Given the description of an element on the screen output the (x, y) to click on. 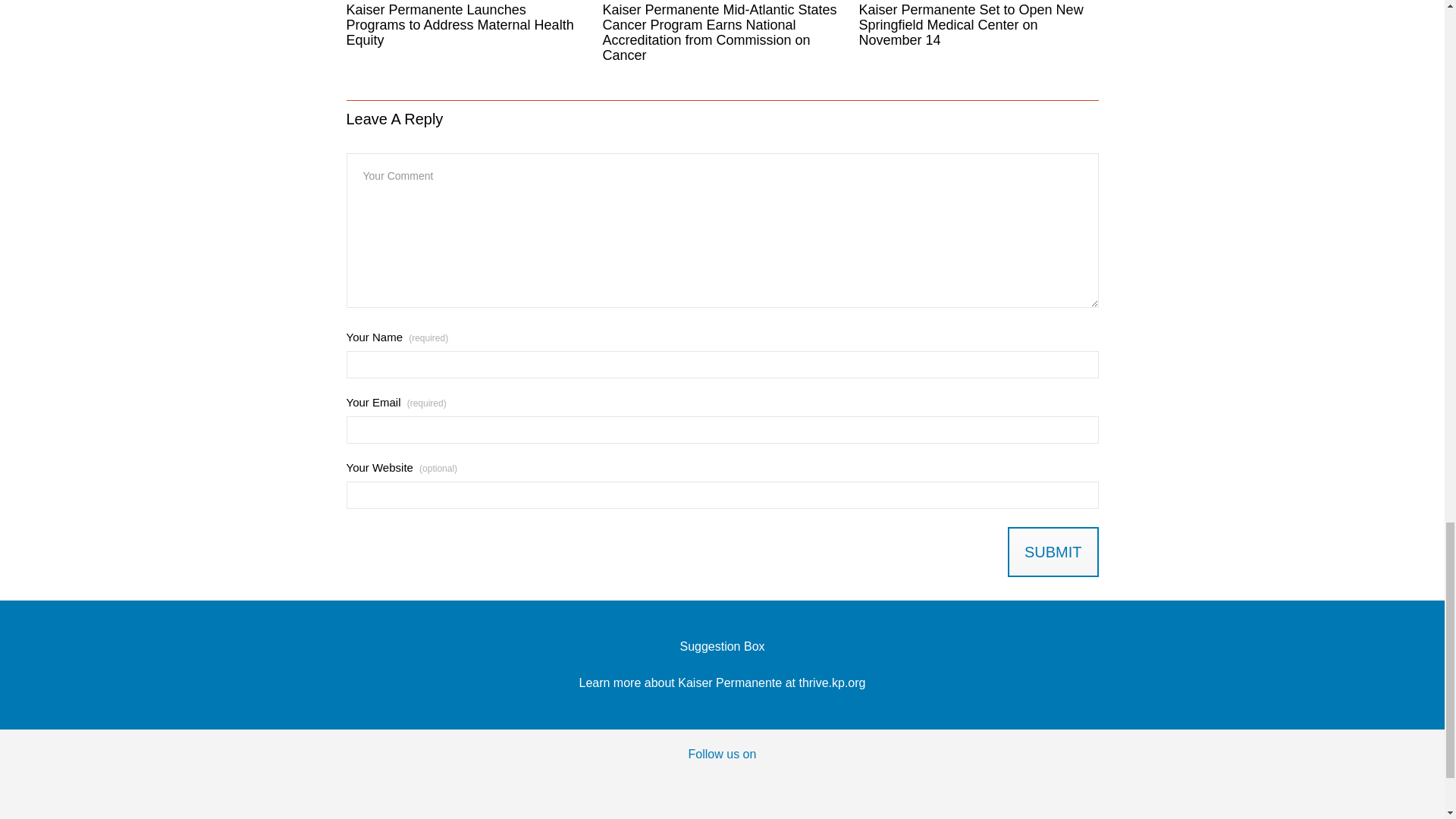
Submit (1053, 552)
Suggestion Box (721, 645)
Twitter (691, 783)
Linkdin (815, 783)
Learn more about Kaiser Permanente at thrive.kp.org (722, 682)
Facebook (629, 783)
Submit (1053, 552)
Youtube (753, 783)
